Given the description of an element on the screen output the (x, y) to click on. 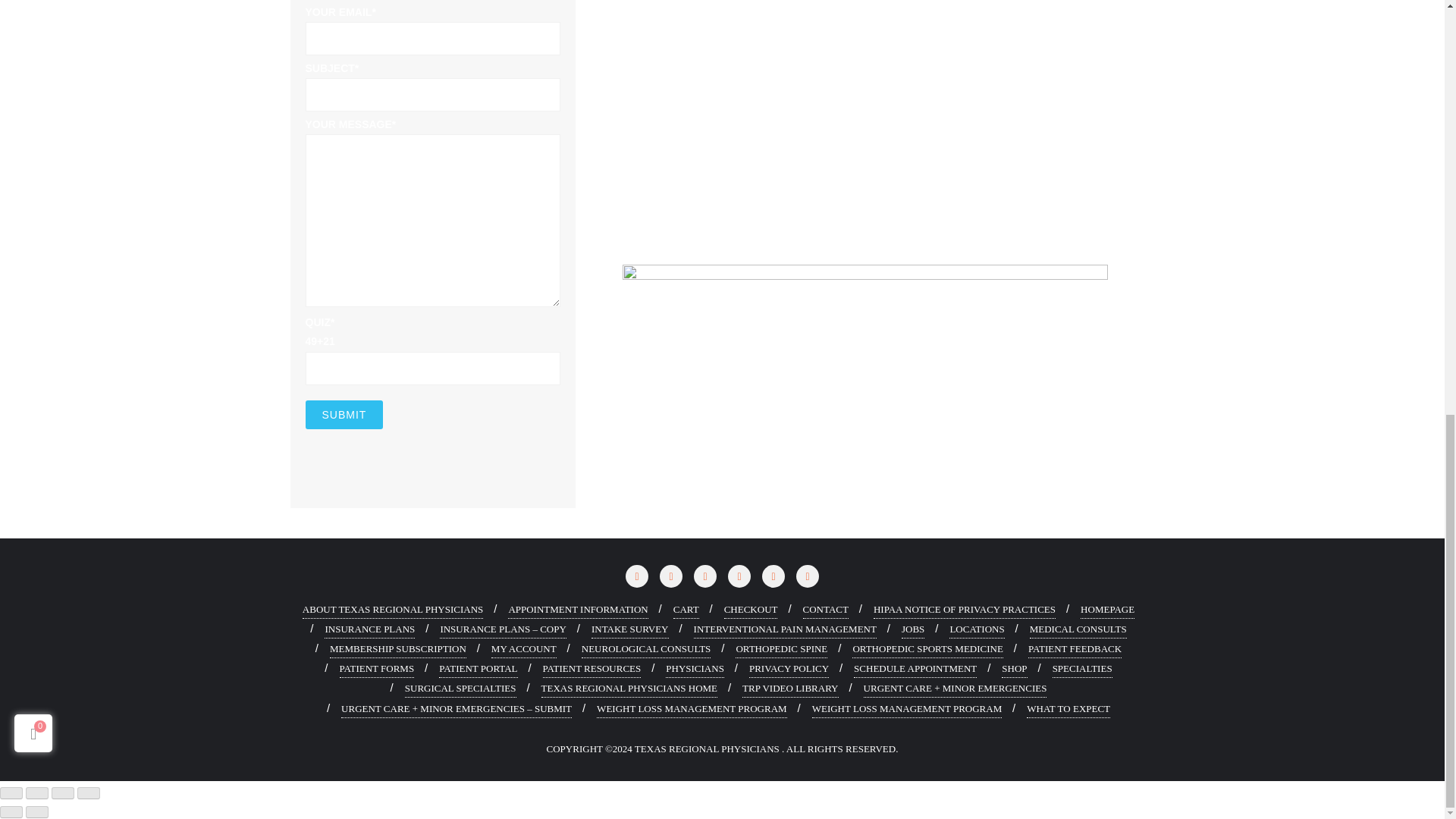
Submit (343, 414)
